Given the description of an element on the screen output the (x, y) to click on. 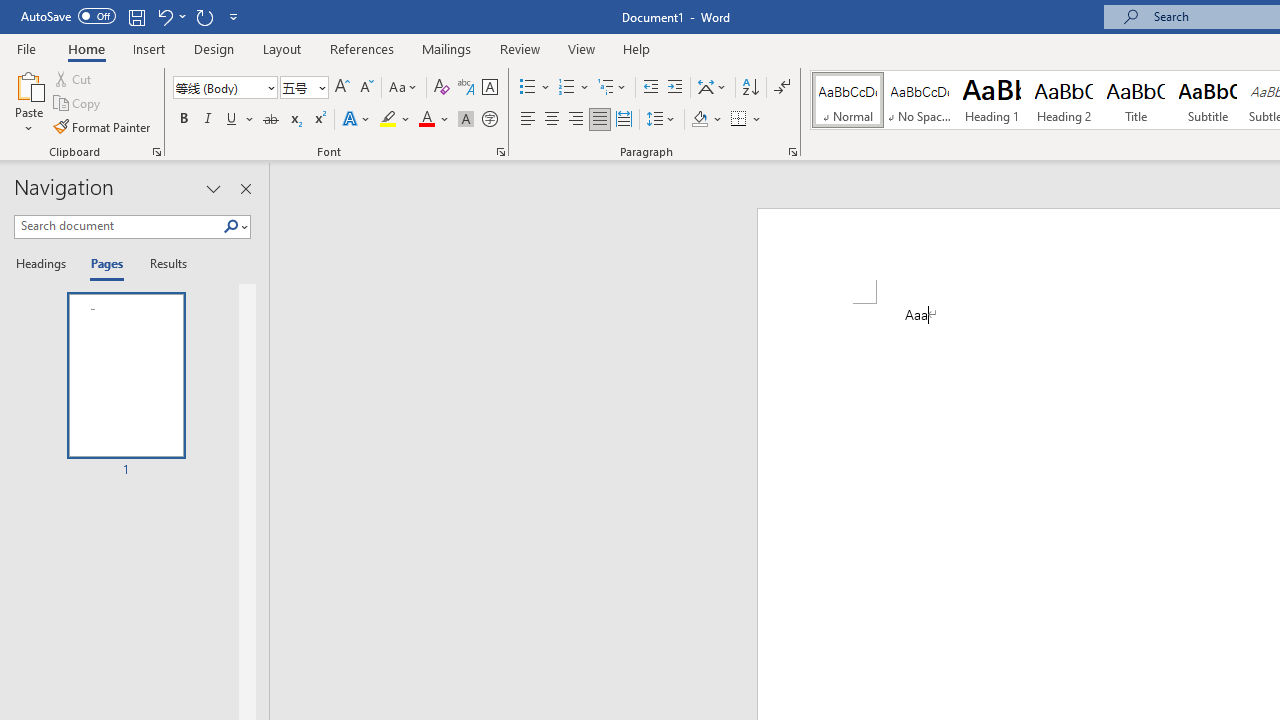
Shading RGB(0, 0, 0) (699, 119)
Distributed (623, 119)
Office Clipboard... (156, 151)
Results (161, 264)
Customize Quick Access Toolbar (234, 15)
Font Color (434, 119)
Sort... (750, 87)
Increase Indent (675, 87)
Search document (118, 226)
Insert (149, 48)
Character Shading (465, 119)
Change Case (404, 87)
Close pane (246, 188)
